Given the description of an element on the screen output the (x, y) to click on. 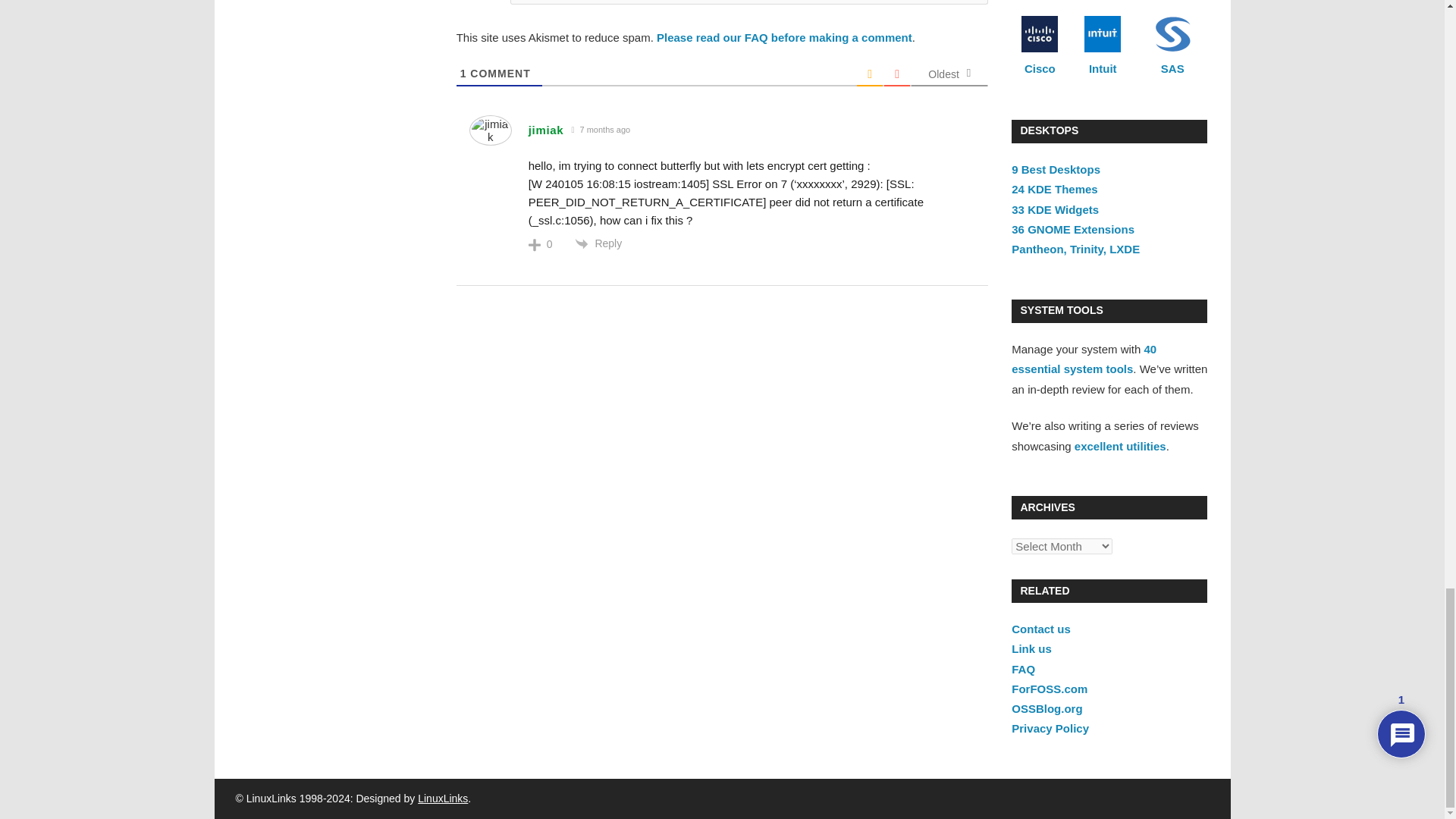
Strike (588, 0)
Link (695, 0)
Bold (525, 0)
Blockquote (652, 0)
Code Block (673, 0)
Ordered List (610, 0)
Italic (546, 0)
bullet (631, 0)
Unordered List (631, 0)
